Given the description of an element on the screen output the (x, y) to click on. 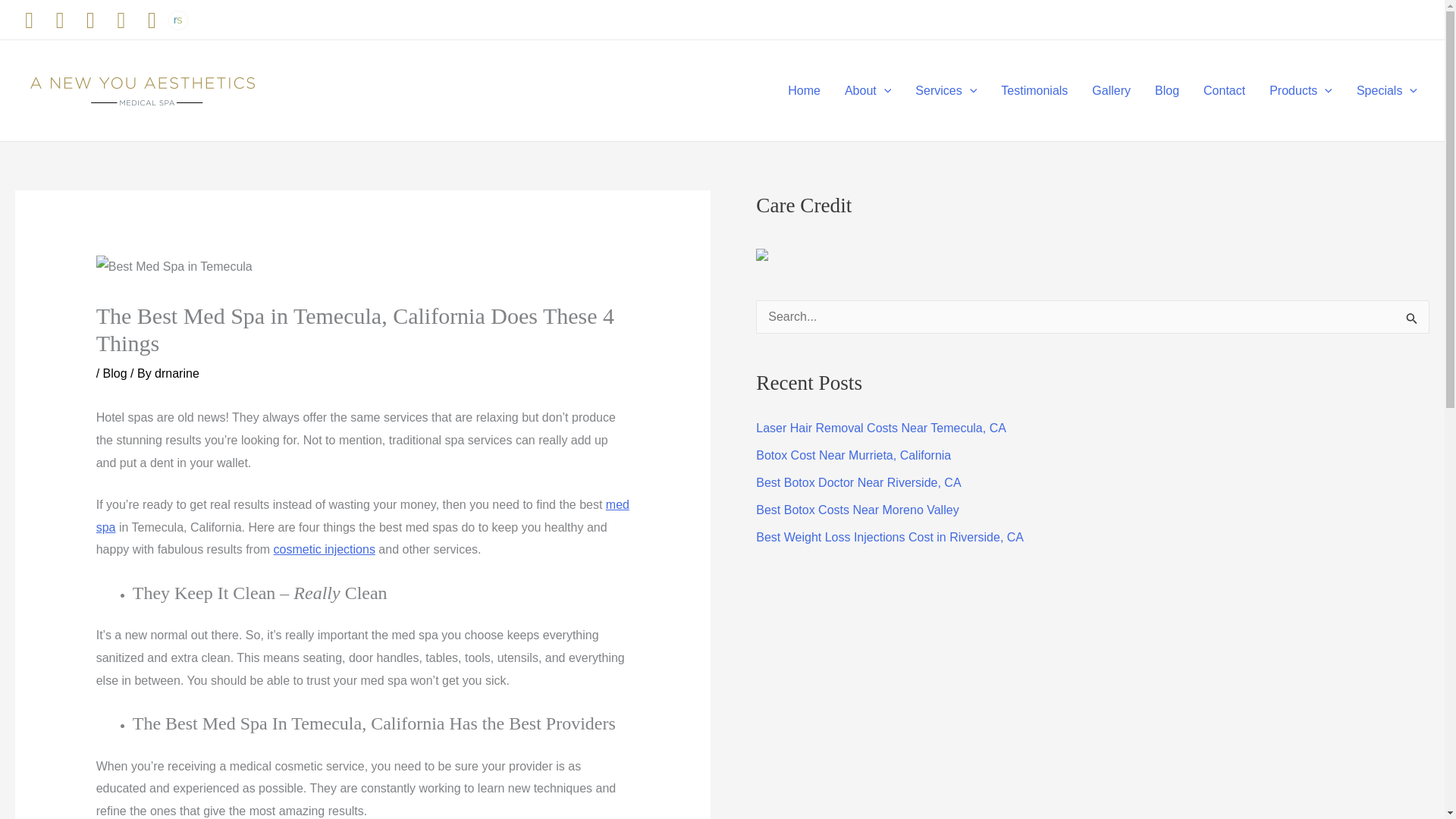
951-972-8911 (1391, 19)
Call Today (1322, 19)
About (867, 90)
View all posts by drnarine (176, 373)
Home (804, 90)
Services (945, 90)
